Given the description of an element on the screen output the (x, y) to click on. 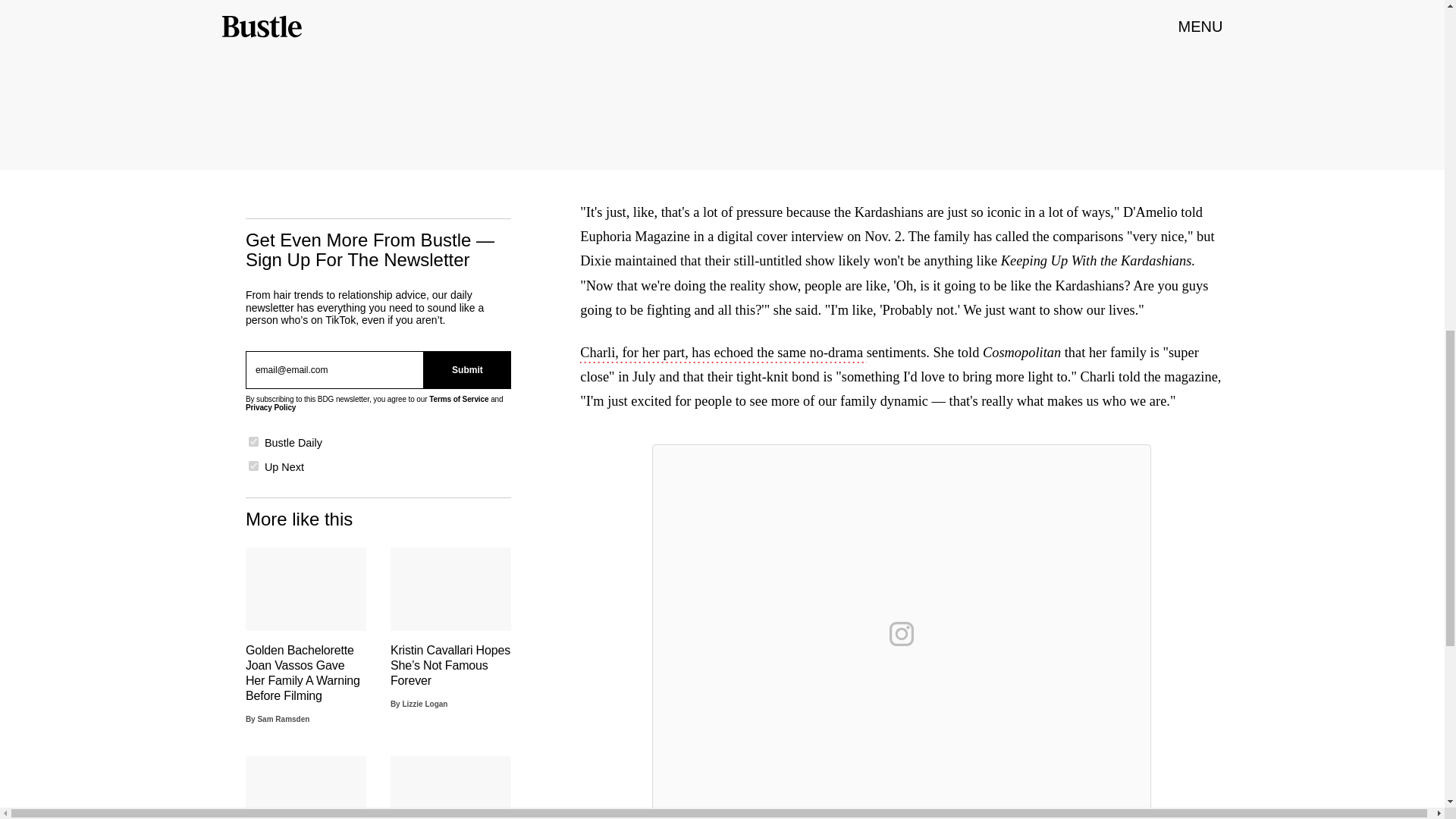
View on Instagram (901, 633)
Submit (467, 370)
Privacy Policy (270, 407)
Charli, for her part, has echoed the same no-drama (722, 353)
Terms of Service (458, 398)
